Given the description of an element on the screen output the (x, y) to click on. 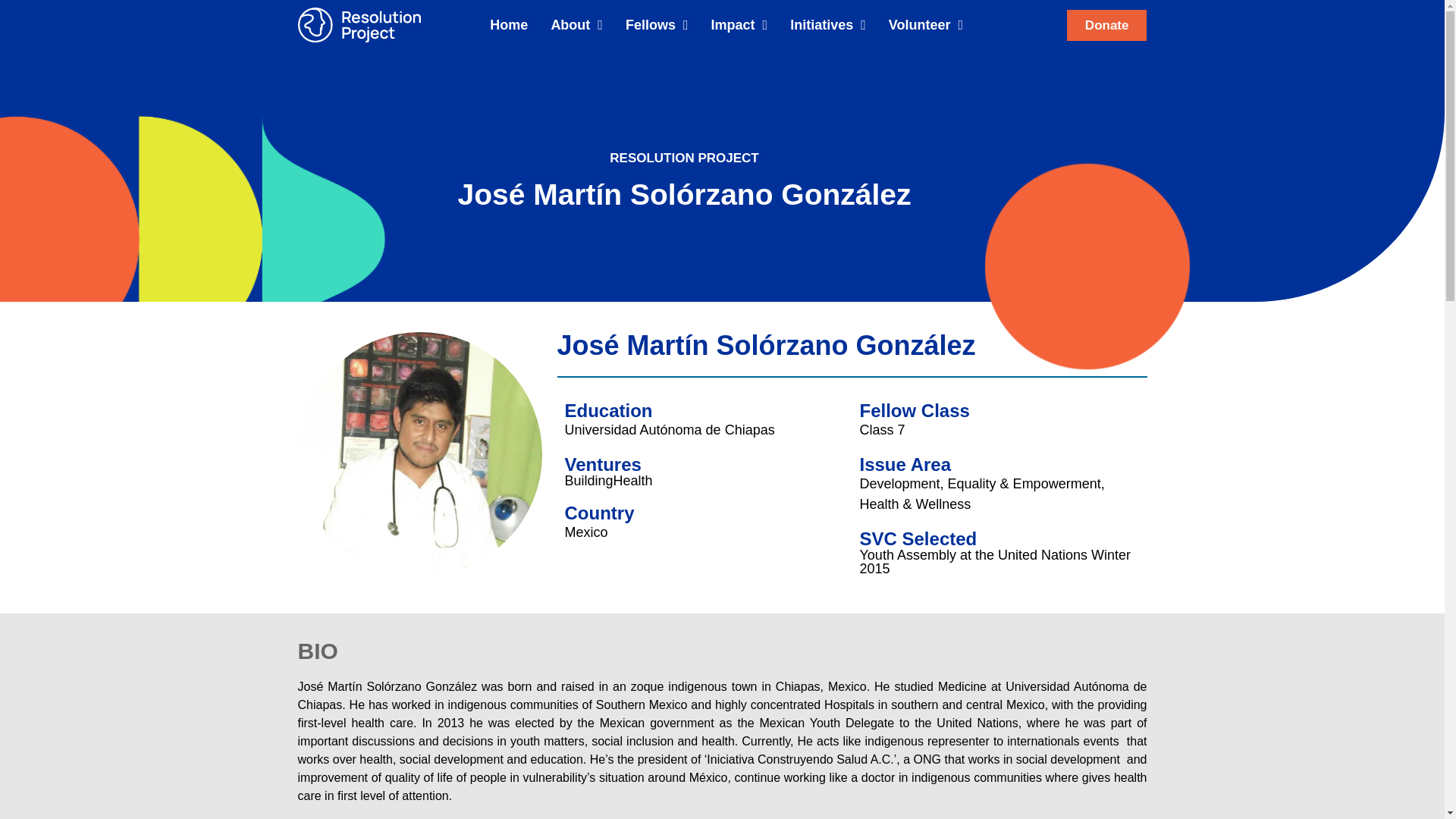
Impact (739, 24)
Home (508, 24)
Fellows (657, 24)
Initiatives (827, 24)
Volunteer (925, 24)
About (576, 24)
